Given the description of an element on the screen output the (x, y) to click on. 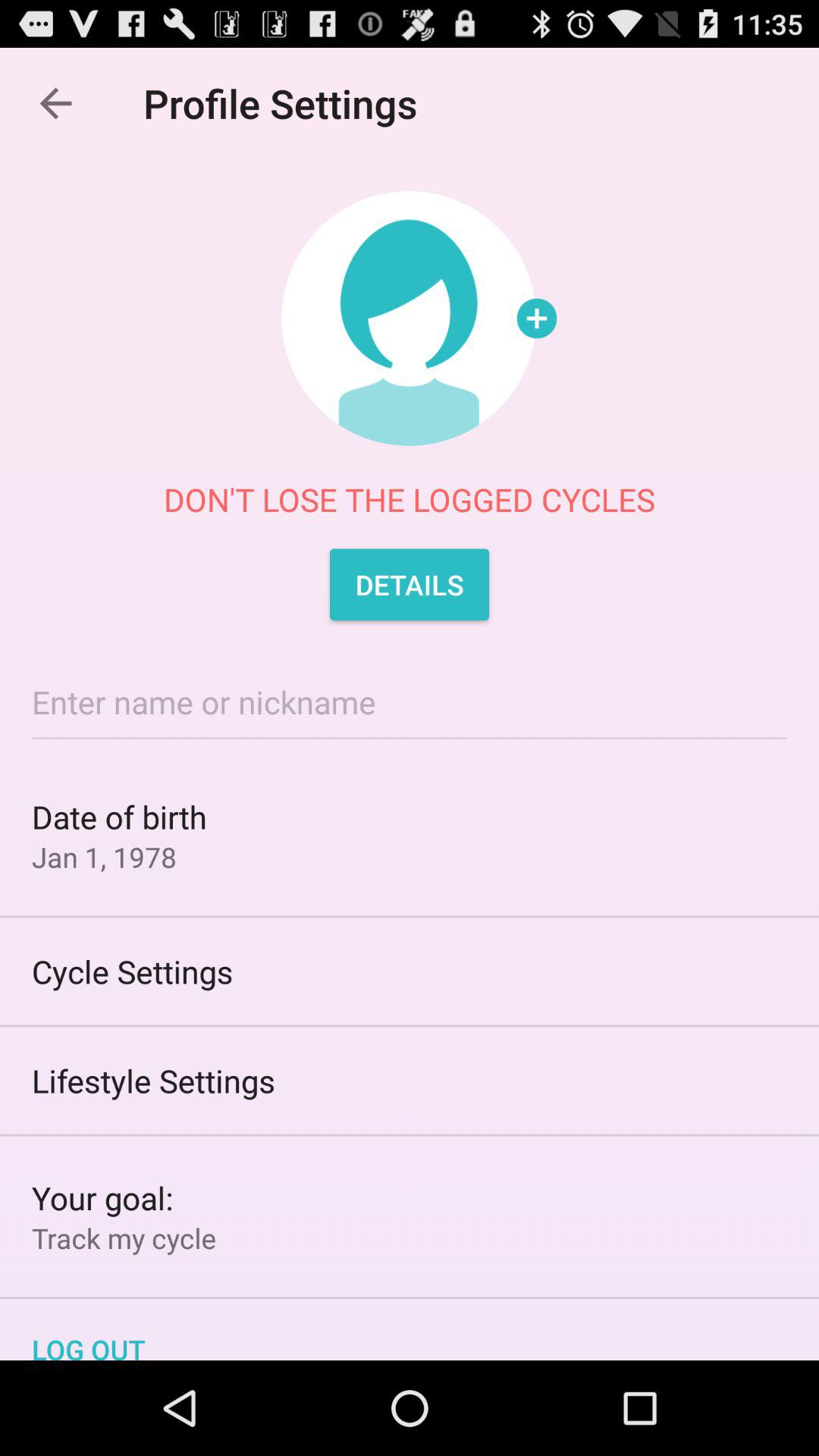
swipe to the cycle settings item (409, 970)
